Given the description of an element on the screen output the (x, y) to click on. 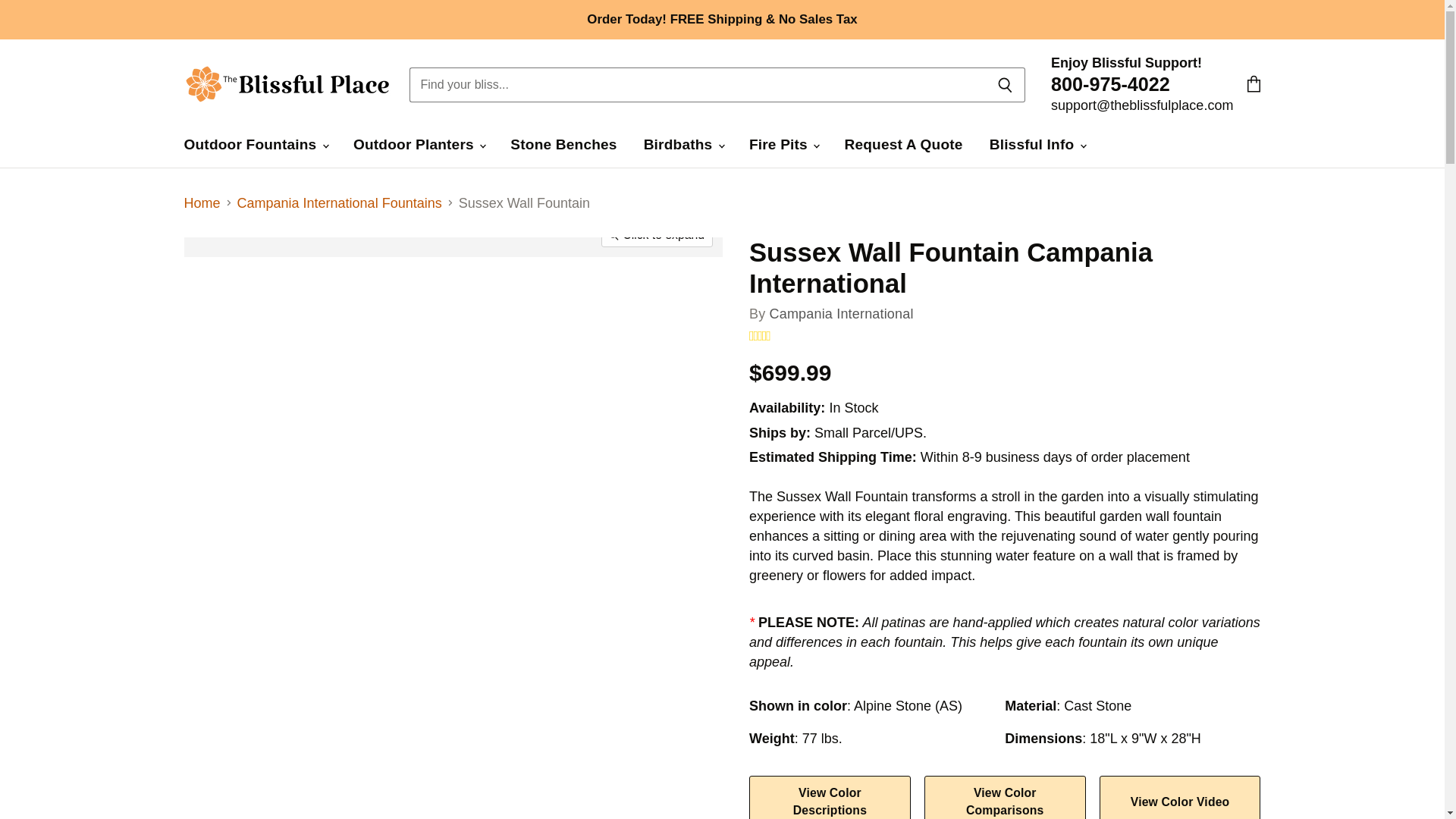
Outdoor Fountains (255, 144)
800-975-4022 (1110, 86)
Call 800-975-4022 (1110, 86)
